Given the description of an element on the screen output the (x, y) to click on. 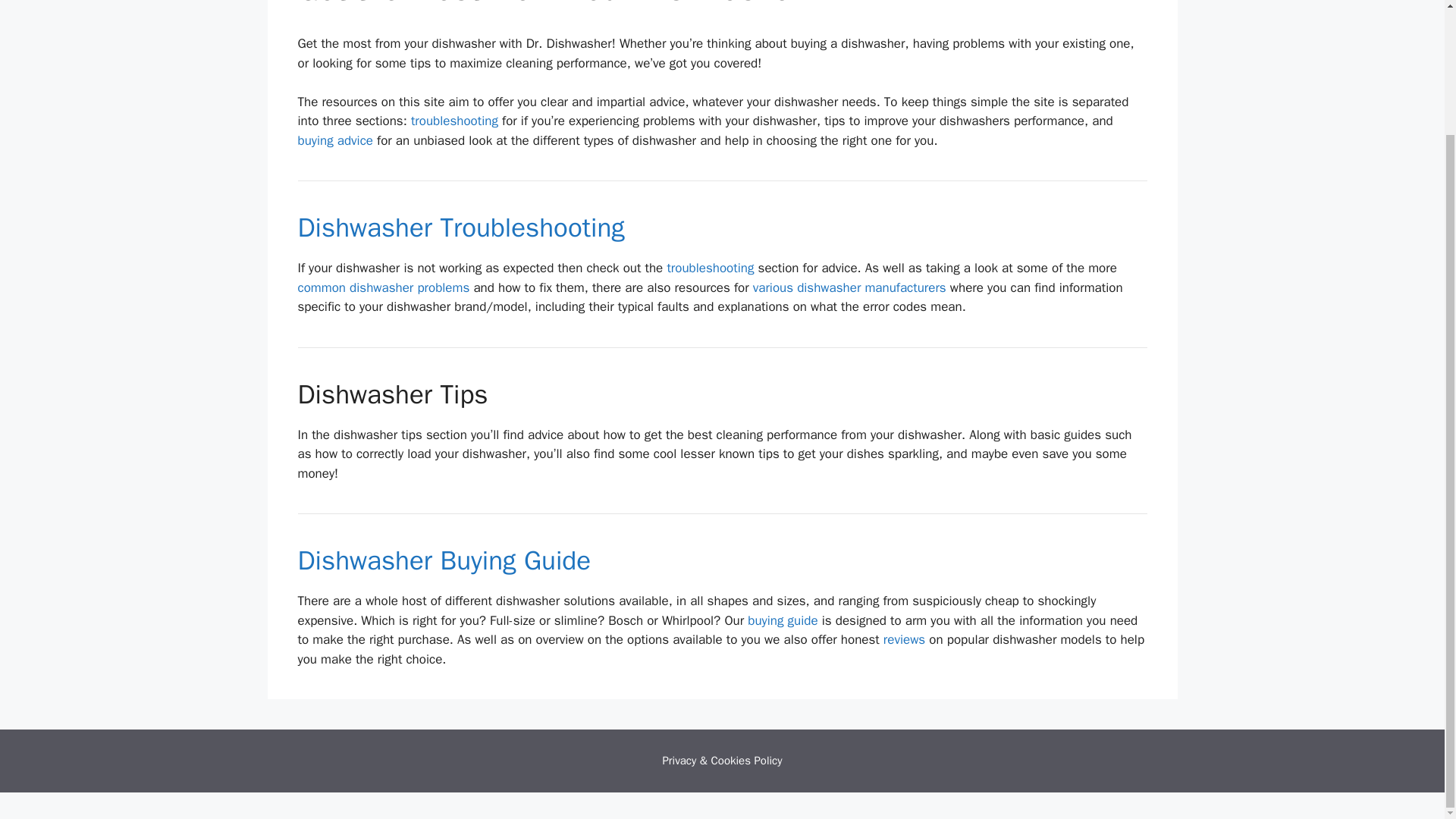
Dishwasher Troubleshooting (460, 227)
Dishwasher Buying Guide (444, 560)
Buying Advice (334, 140)
Buying Advice (444, 560)
Dishwasher Troubleshooting (460, 227)
Dishwasher Troubleshooting (453, 120)
troubleshooting (710, 268)
Reviews (903, 639)
Buying Advice (782, 620)
buying guide (782, 620)
Common Problems (382, 287)
Dishwasher Troubleshooting (710, 268)
buying advice (334, 140)
reviews (903, 639)
various dishwasher manufacturers (849, 287)
